Given the description of an element on the screen output the (x, y) to click on. 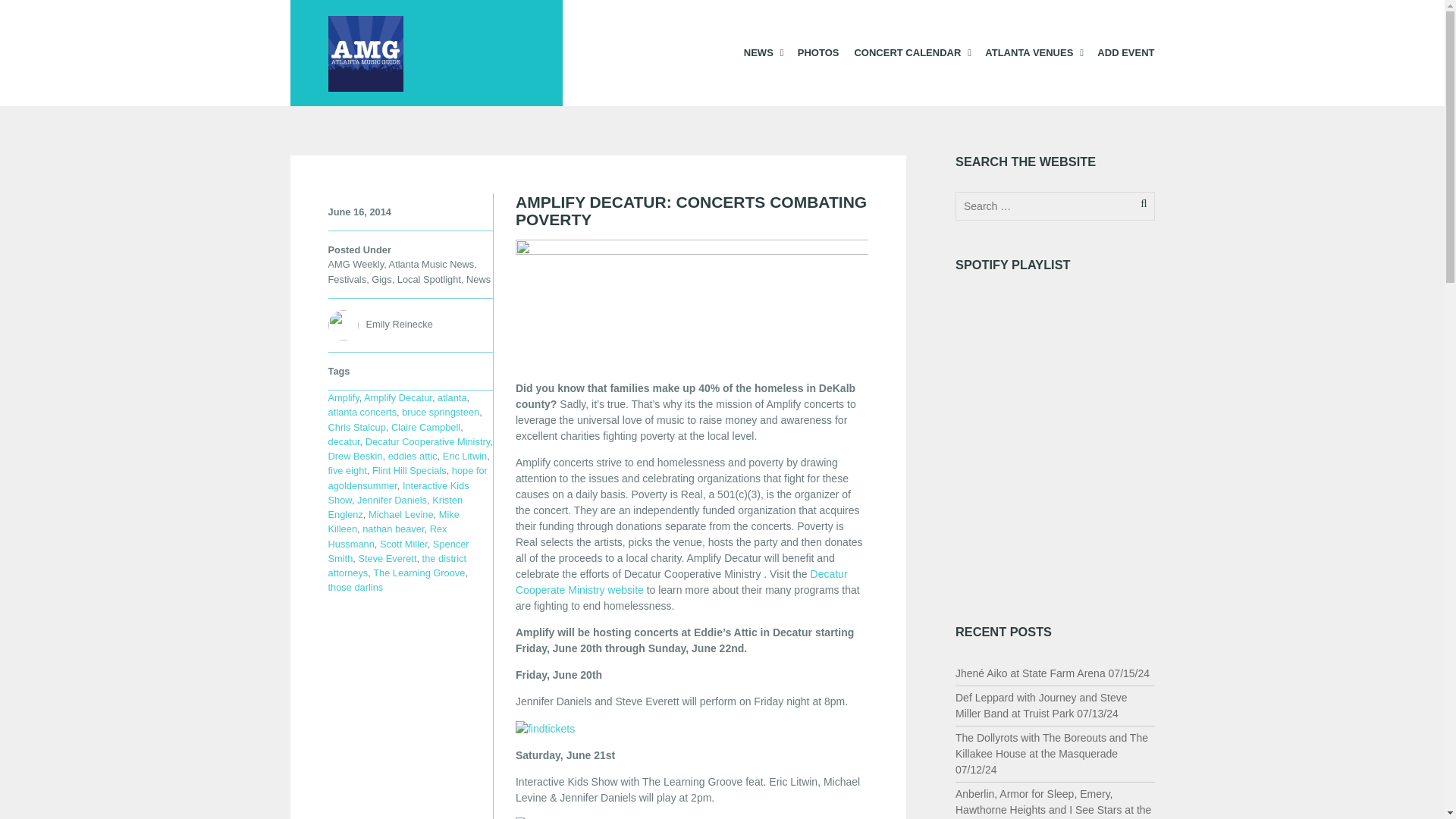
Atlanta Music News (431, 264)
Emily Reinecke (398, 324)
Atlanta Concert Calendar (910, 52)
News (477, 279)
Decatur Cooperate Ministry website  (681, 582)
Festivals (346, 279)
ATLANTA VENUES (1032, 52)
Gigs (381, 279)
CONCERT CALENDAR (910, 52)
Atlanta Music Venues (1032, 52)
AMG Weekly (355, 264)
NEWS (763, 52)
Local Spotlight (429, 279)
ADD EVENT (1125, 52)
PHOTOS (818, 52)
